Given the description of an element on the screen output the (x, y) to click on. 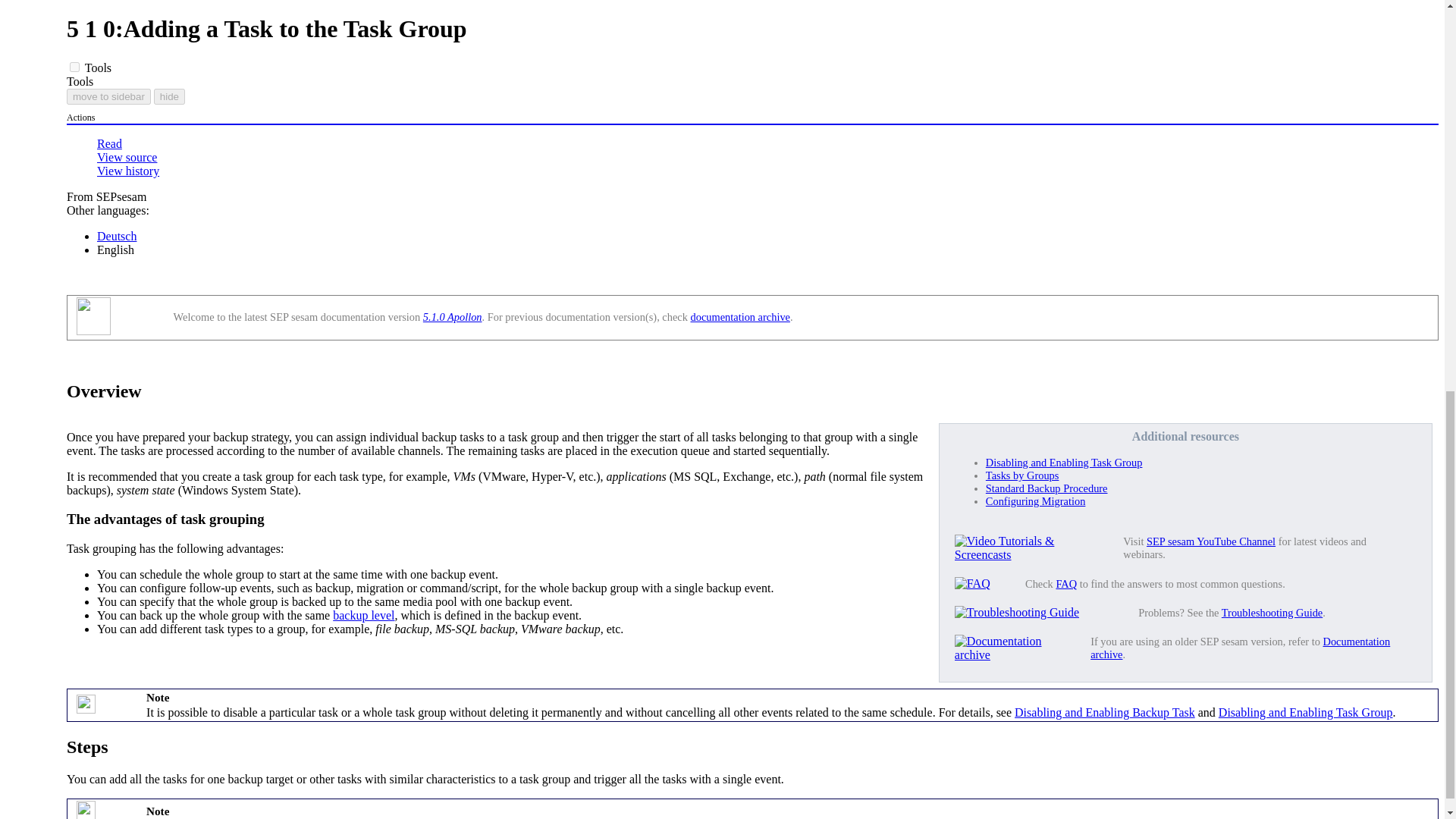
on (74, 67)
